Given the description of an element on the screen output the (x, y) to click on. 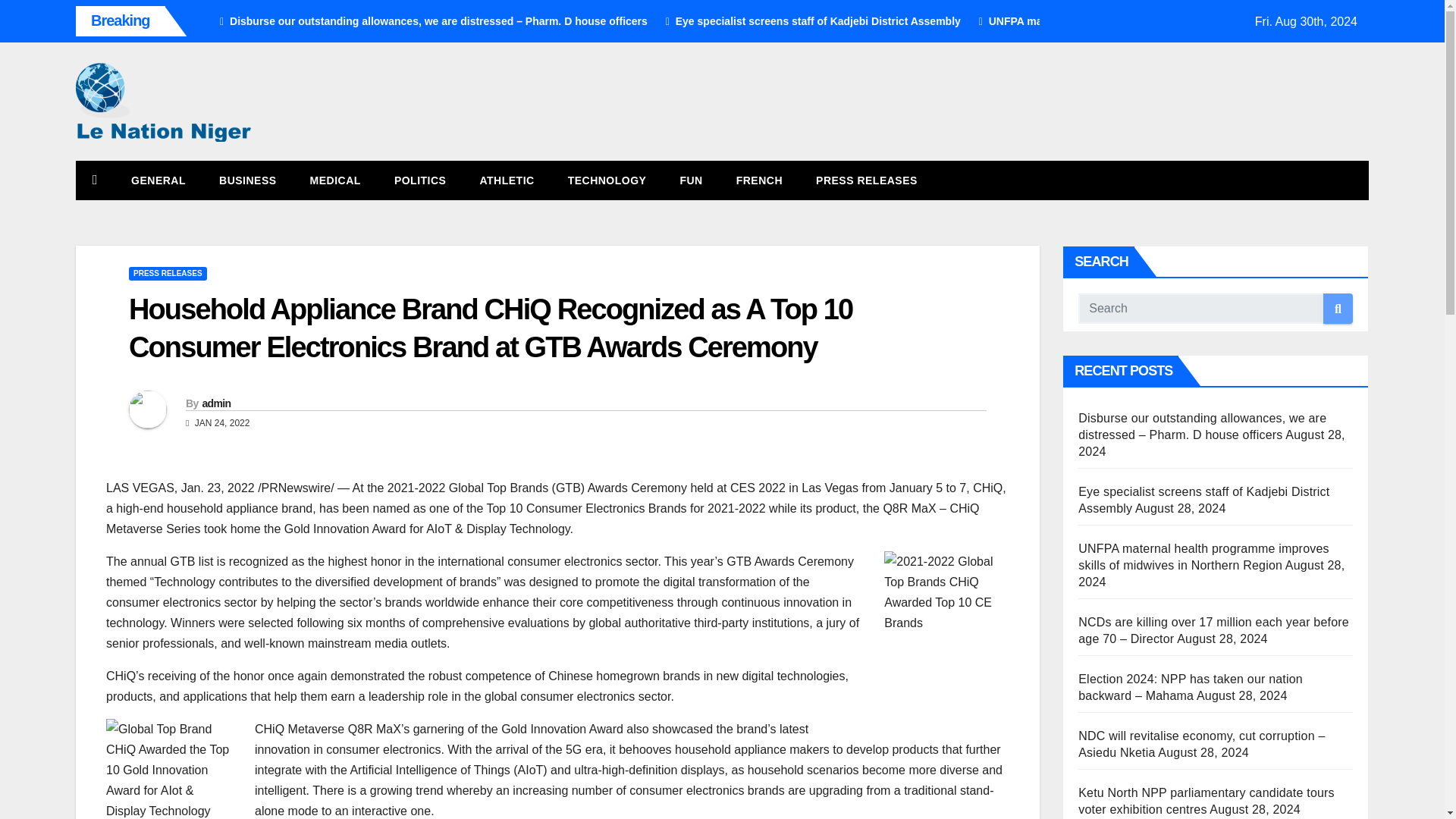
TECHNOLOGY (607, 179)
admin (216, 403)
PRESS RELEASES (167, 273)
Business (248, 179)
Technology (607, 179)
French (759, 179)
Eye specialist screens staff of Kadjebi District Assembly (806, 21)
FRENCH (759, 179)
Fun (690, 179)
GENERAL (158, 179)
